Given the description of an element on the screen output the (x, y) to click on. 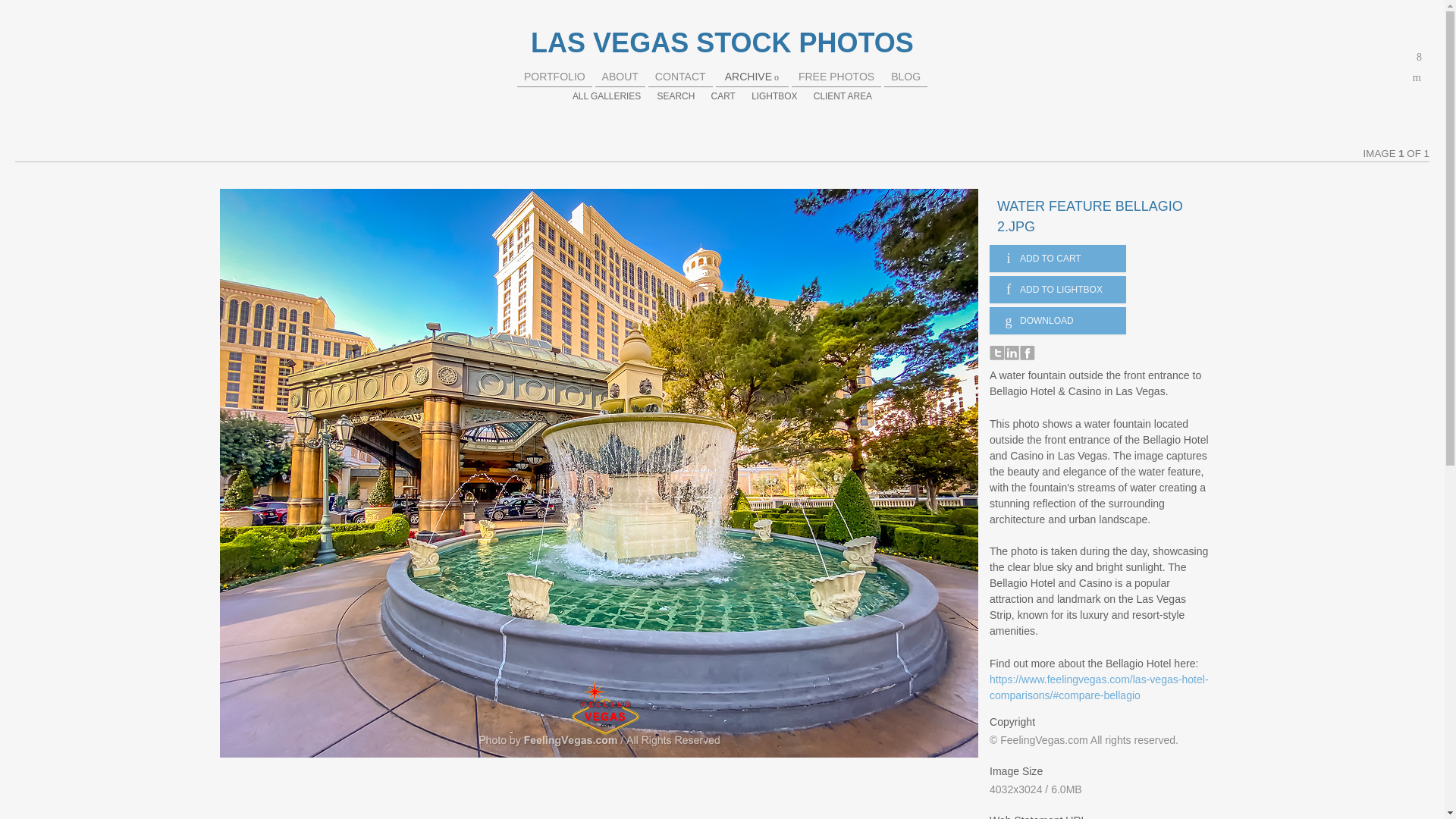
Add to Cart (1057, 257)
SEARCH (676, 95)
Share This (1419, 57)
CONTACT (680, 76)
ABOUT (620, 76)
LAS VEGAS STOCK PHOTOS (722, 42)
LIGHTBOX (773, 95)
DOWNLOAD (1057, 320)
CART (723, 95)
PORTFOLIO (554, 76)
ALL GALLERIES (606, 95)
CLIENT AREA (842, 95)
FREE PHOTOS (836, 76)
ADD TO LIGHTBOX (1057, 289)
x (1419, 57)
